Given the description of an element on the screen output the (x, y) to click on. 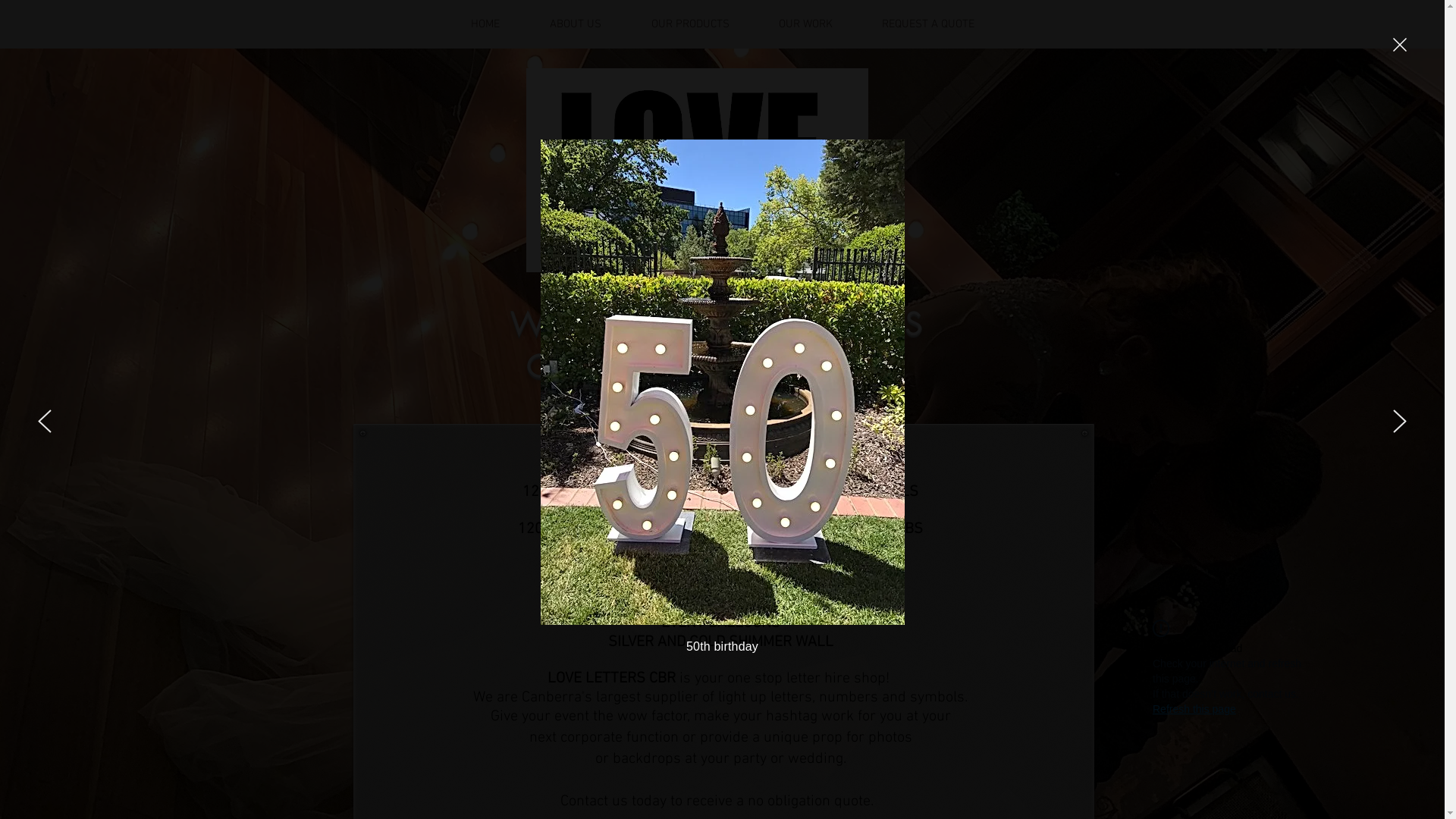
OUR PRODUCTS Element type: text (690, 24)
REQUEST A QUOTE Element type: text (927, 24)
HOME Element type: text (484, 24)
ABOUT US Element type: text (575, 24)
LL DESIGN WHITE.jpg Element type: hover (697, 170)
Refresh this page Element type: text (1194, 708)
OUR WORK Element type: text (804, 24)
